Given the description of an element on the screen output the (x, y) to click on. 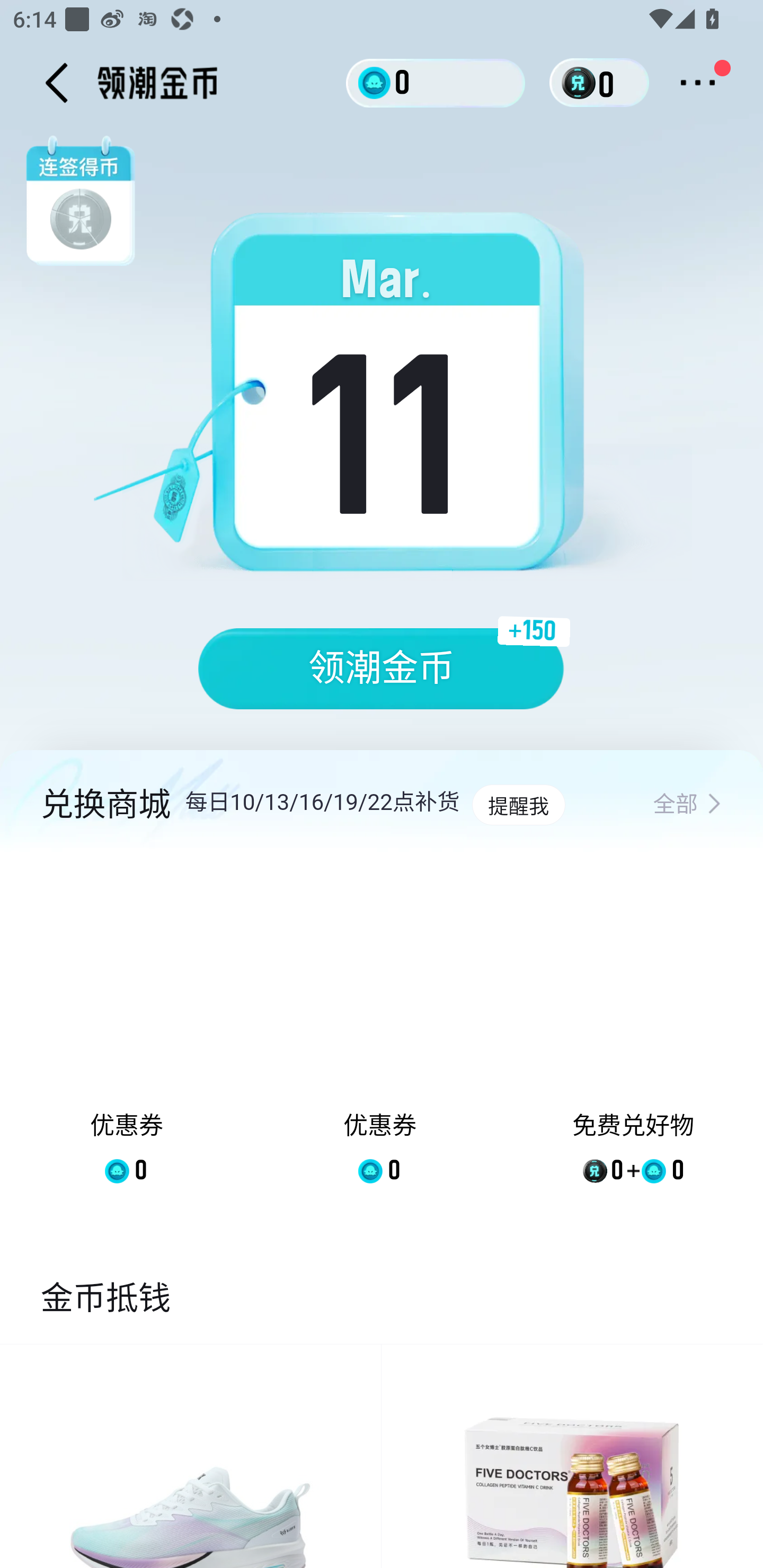
0 (435, 82)
format,webp 0 (581, 83)
已连续签到0天 (387, 403)
领潮金币 + 150 (381, 668)
提醒我 (518, 805)
全部 (687, 804)
优惠券 0 (127, 1031)
优惠券 0 (379, 1031)
免费兑好物 0 0 (633, 1031)
